Given the description of an element on the screen output the (x, y) to click on. 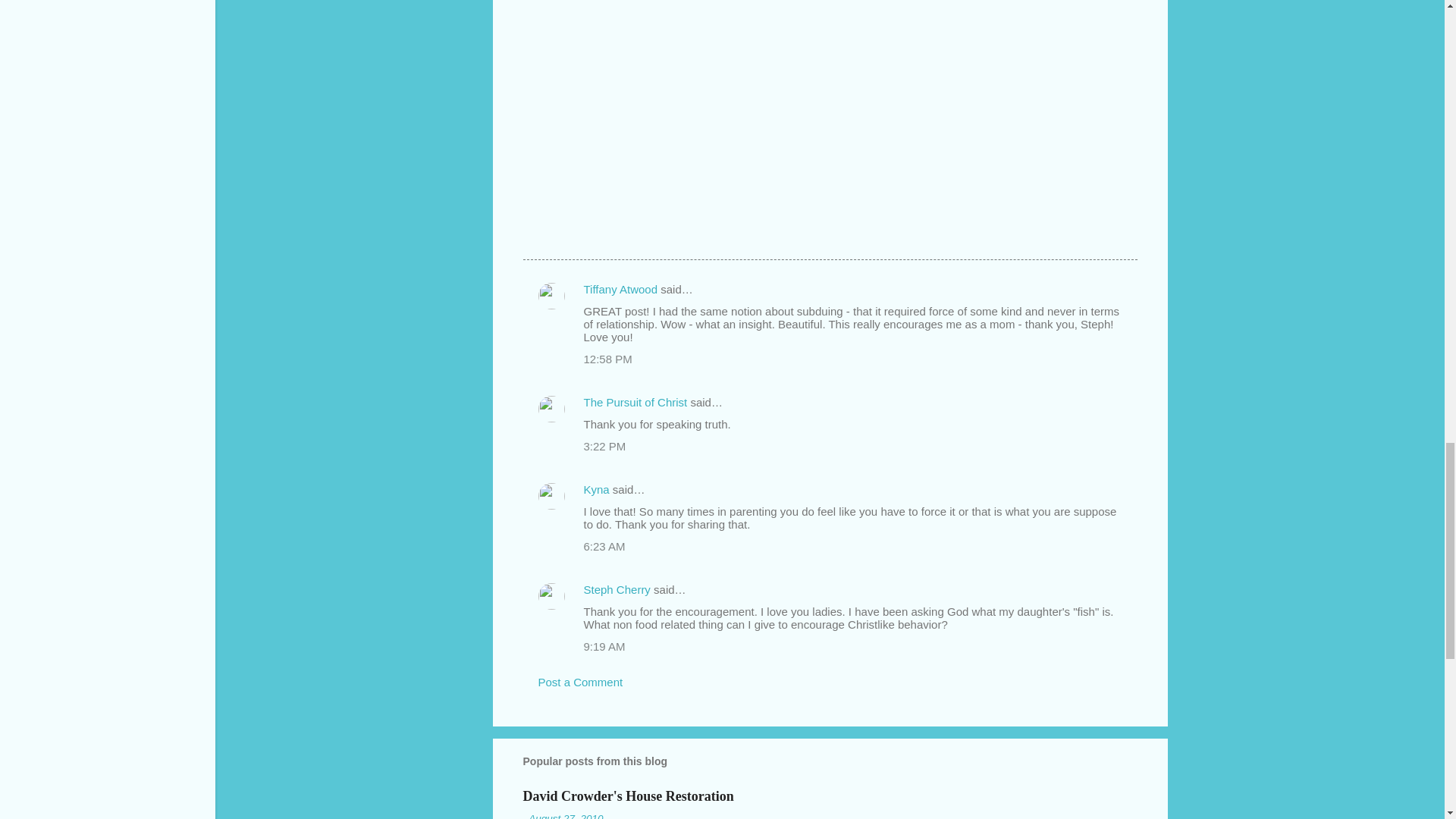
Kyna (596, 489)
6:23 AM (604, 545)
3:22 PM (604, 445)
9:19 AM (604, 645)
Steph Cherry (616, 589)
Post a Comment (580, 681)
Email Post (562, 232)
David Crowder's House Restoration (627, 796)
12:58 PM (607, 358)
comment permalink (607, 358)
The Pursuit of Christ (635, 401)
August 27, 2010 (565, 816)
Tiffany Atwood (620, 288)
